Given the description of an element on the screen output the (x, y) to click on. 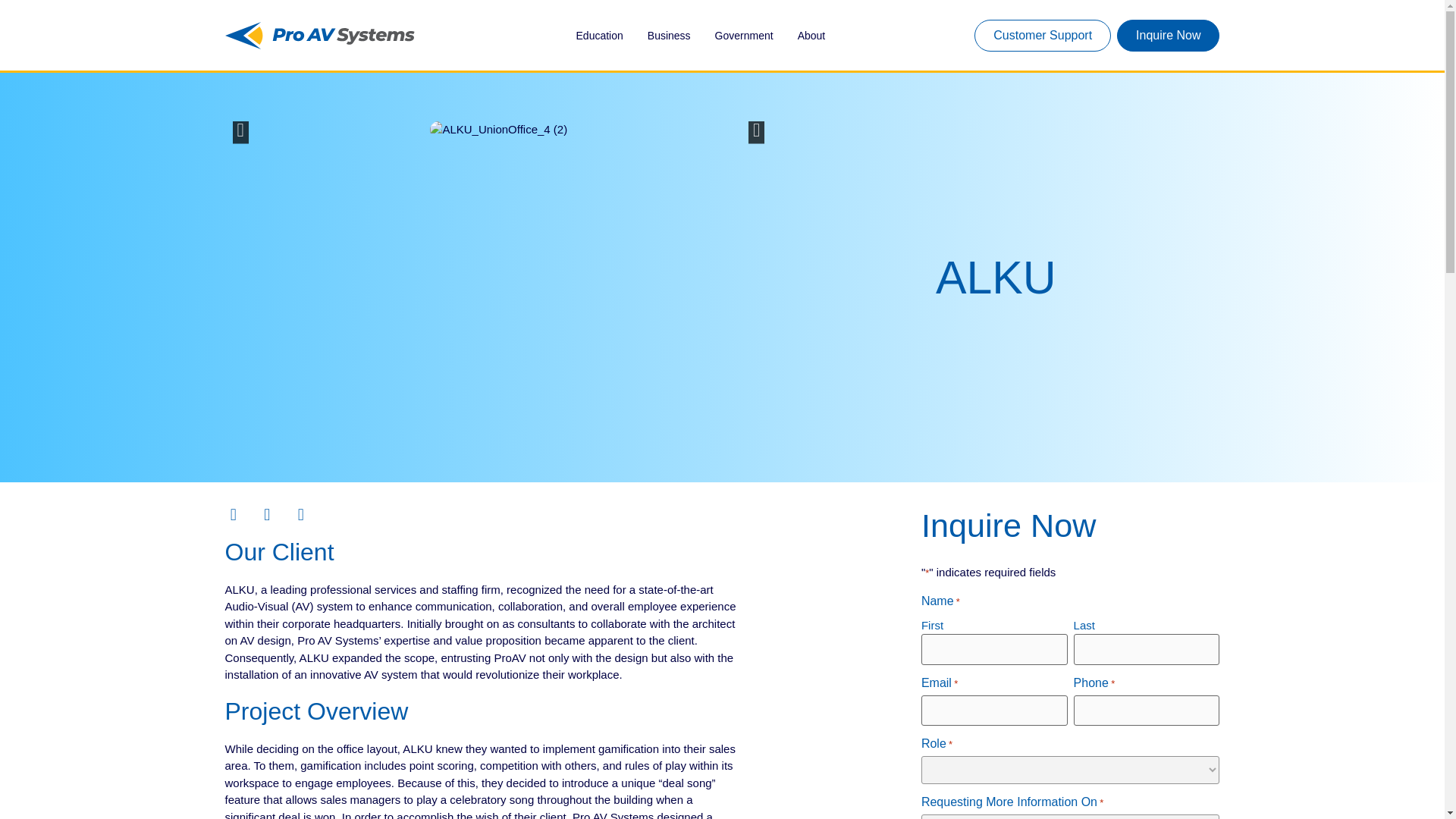
Business (668, 35)
Inquire Now (1168, 34)
Government (743, 35)
Customer Support (1042, 34)
Education (599, 35)
